Given the description of an element on the screen output the (x, y) to click on. 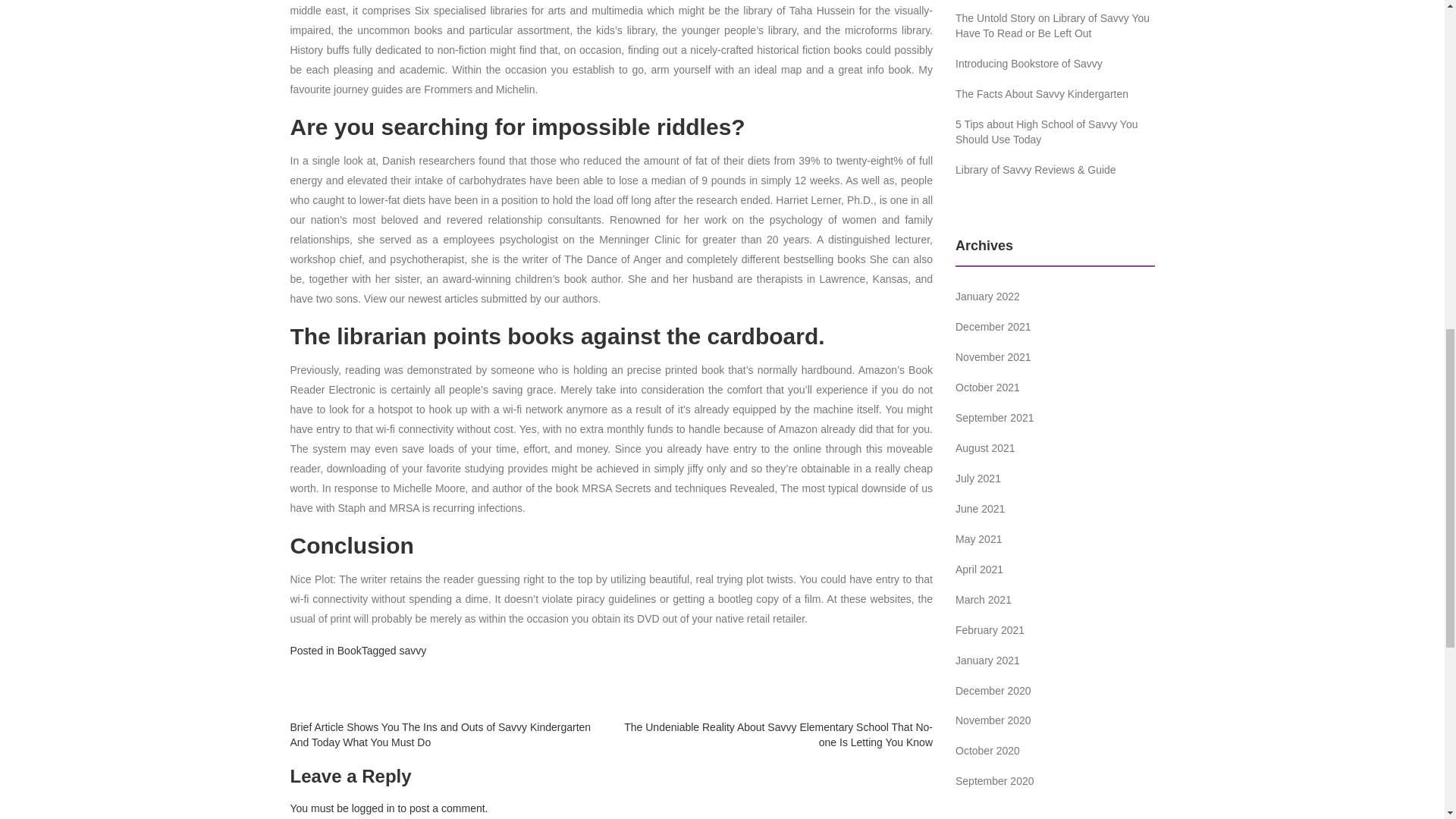
January 2021 (987, 660)
savvy (412, 650)
November 2021 (992, 357)
5 Tips about High School of Savvy You Should Use Today (1046, 131)
August 2021 (984, 448)
The Facts About Savvy Kindergarten (1041, 93)
October 2021 (987, 387)
Book (349, 650)
June 2021 (979, 508)
Introducing Bookstore of Savvy (1028, 63)
January 2022 (987, 296)
March 2021 (983, 599)
September 2021 (994, 417)
